Given the description of an element on the screen output the (x, y) to click on. 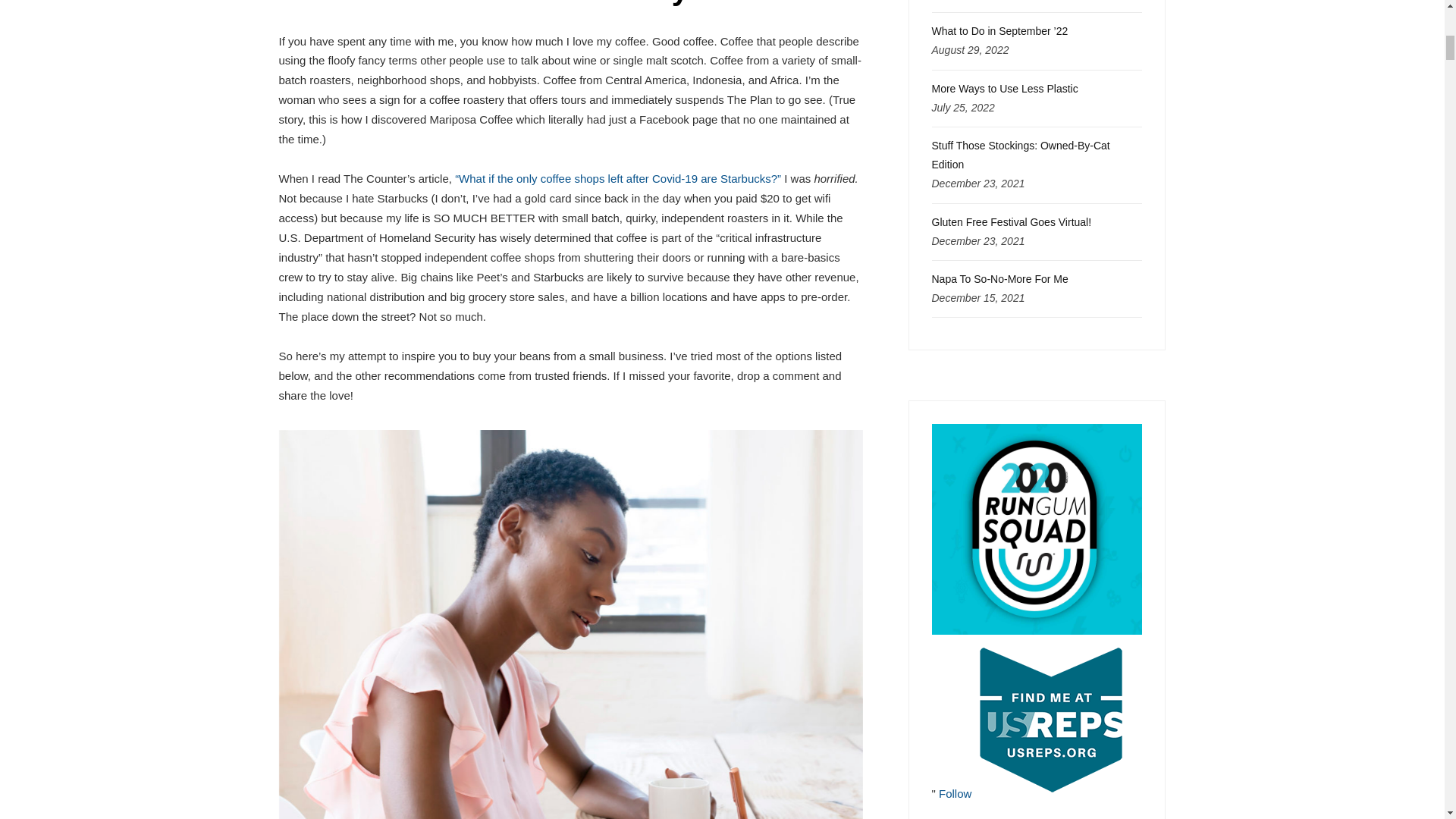
Caffeinate Locally! (570, 2)
